Given the description of an element on the screen output the (x, y) to click on. 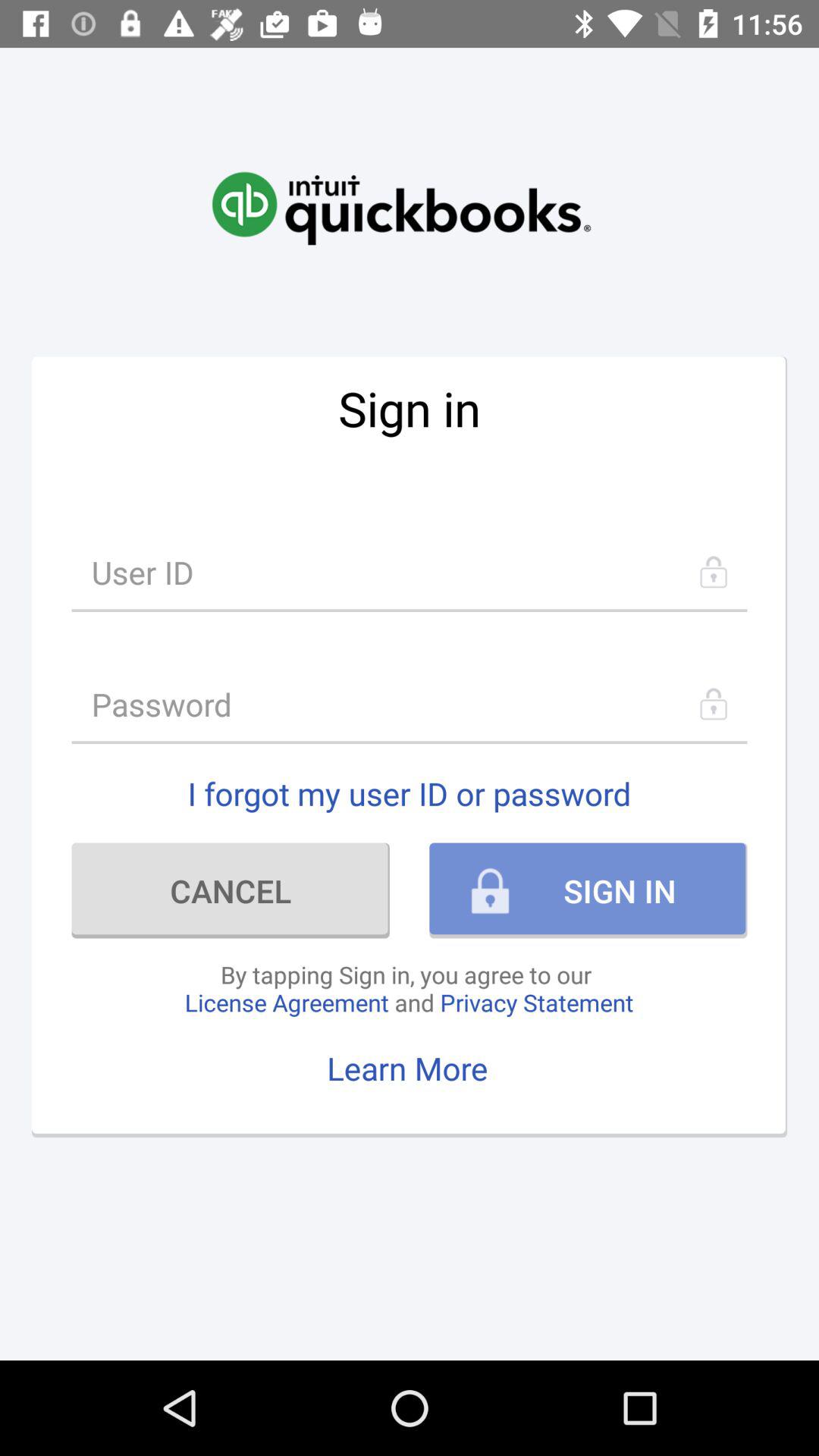
turn on the icon above learn more icon (408, 988)
